Given the description of an element on the screen output the (x, y) to click on. 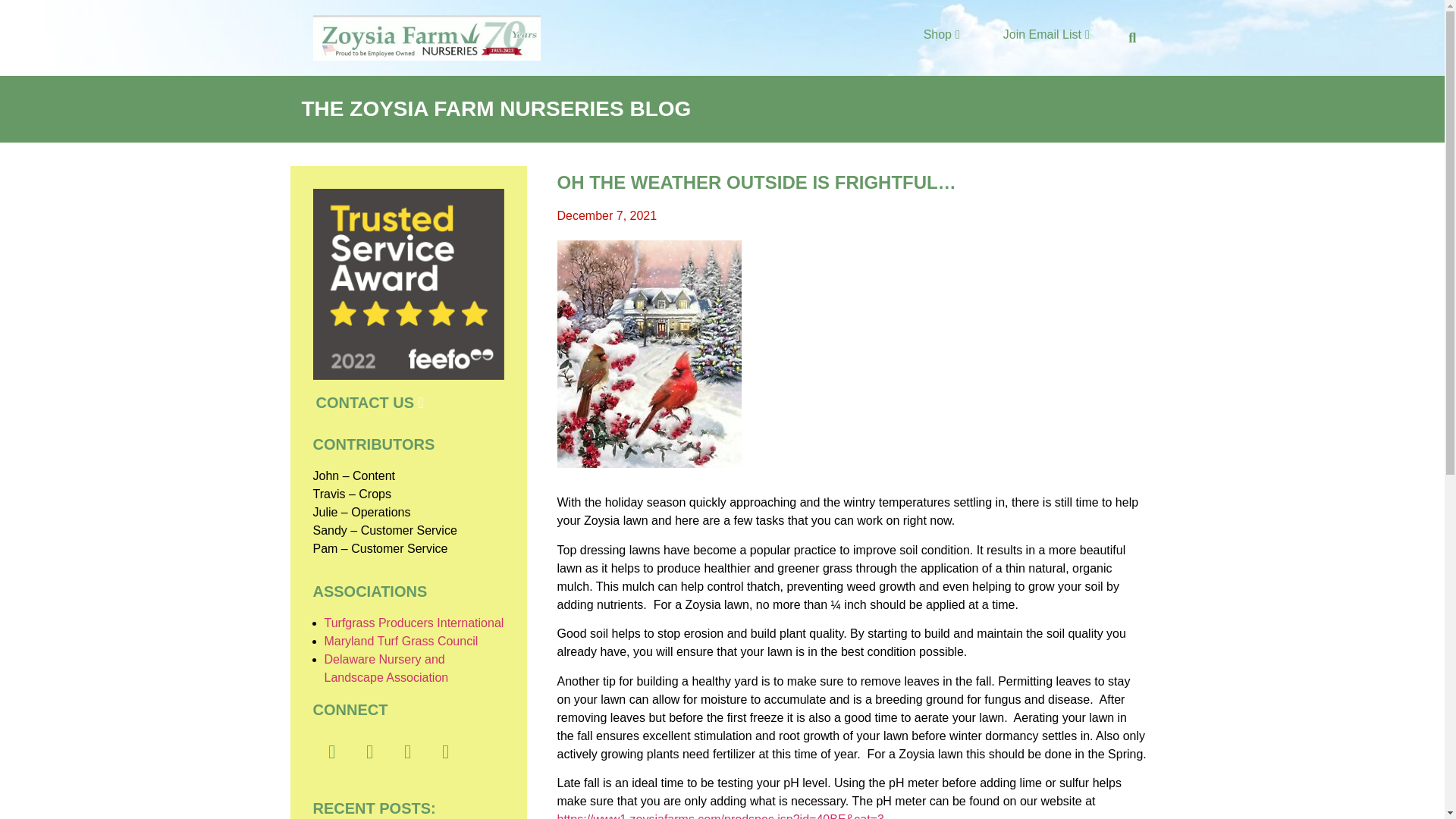
THE ZOYSIA FARM NURSERIES BLOG (496, 108)
Delaware Nursery and Landscape Association (386, 667)
December 7, 2021 (606, 216)
Maryland Turf Grass Council (401, 640)
Join Email List (1046, 36)
Shop (941, 36)
Turfgrass Producers International (413, 622)
CONTACT US (369, 402)
